Given the description of an element on the screen output the (x, y) to click on. 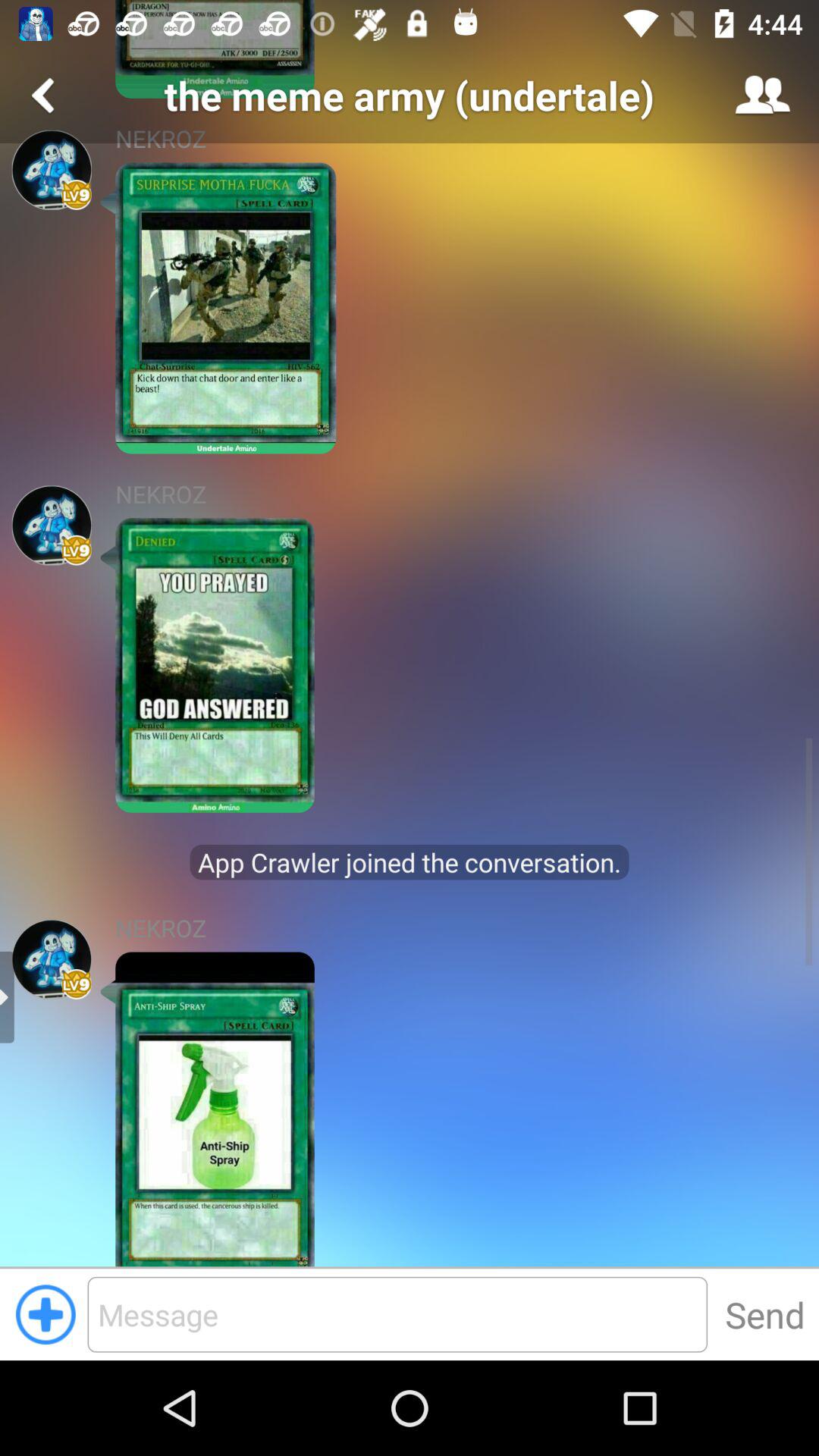
type the message (397, 1314)
